Given the description of an element on the screen output the (x, y) to click on. 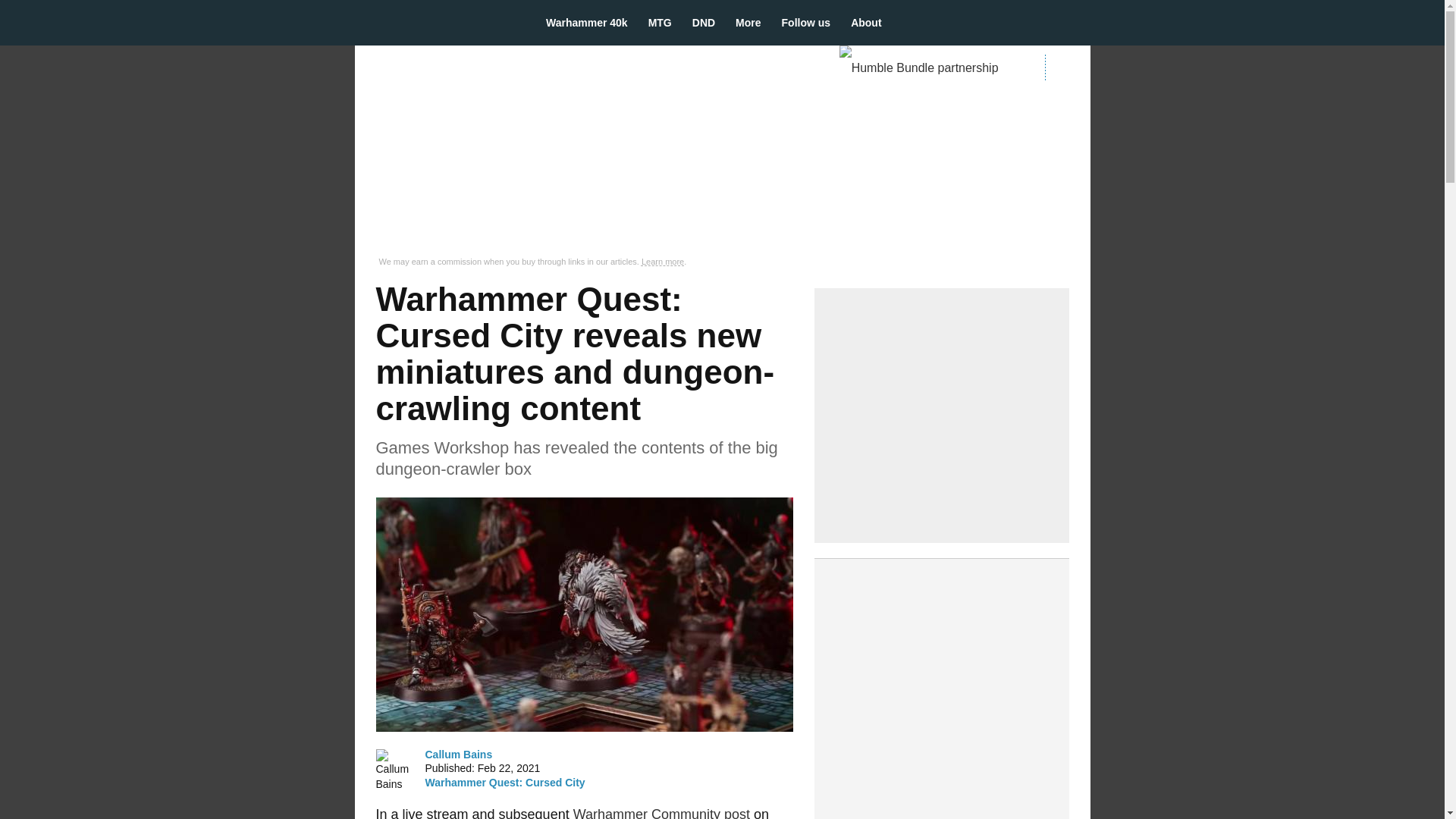
Follow us (810, 22)
Callum Bains (458, 754)
Warhammer Community post (661, 812)
Network N Media (1067, 67)
Learn more (663, 261)
Humble Bundle partnership (925, 67)
Wargamer (437, 22)
Callum Bains (394, 770)
Warhammer 40k (591, 22)
